Given the description of an element on the screen output the (x, y) to click on. 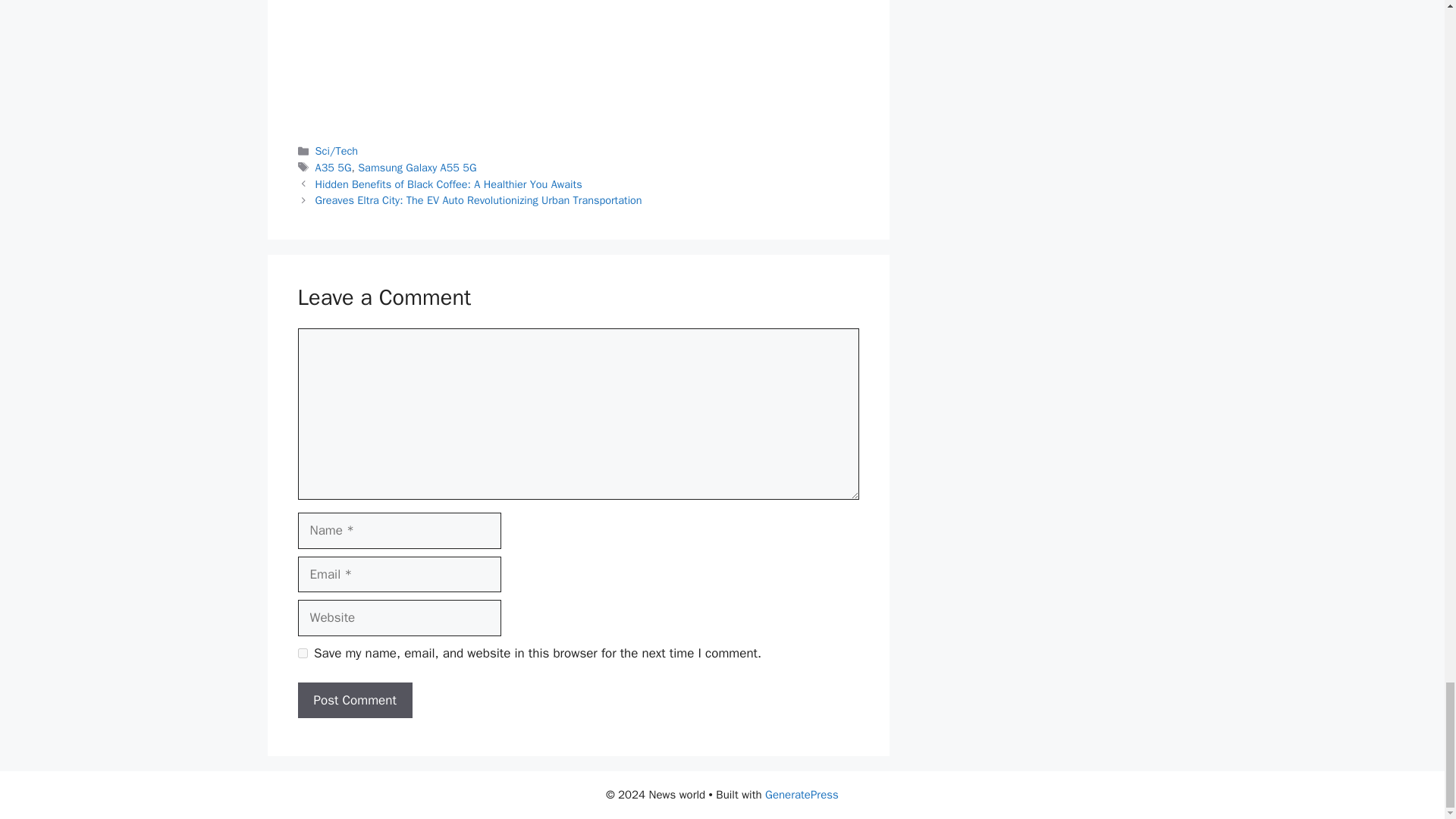
yes (302, 653)
Post Comment (354, 700)
